Given the description of an element on the screen output the (x, y) to click on. 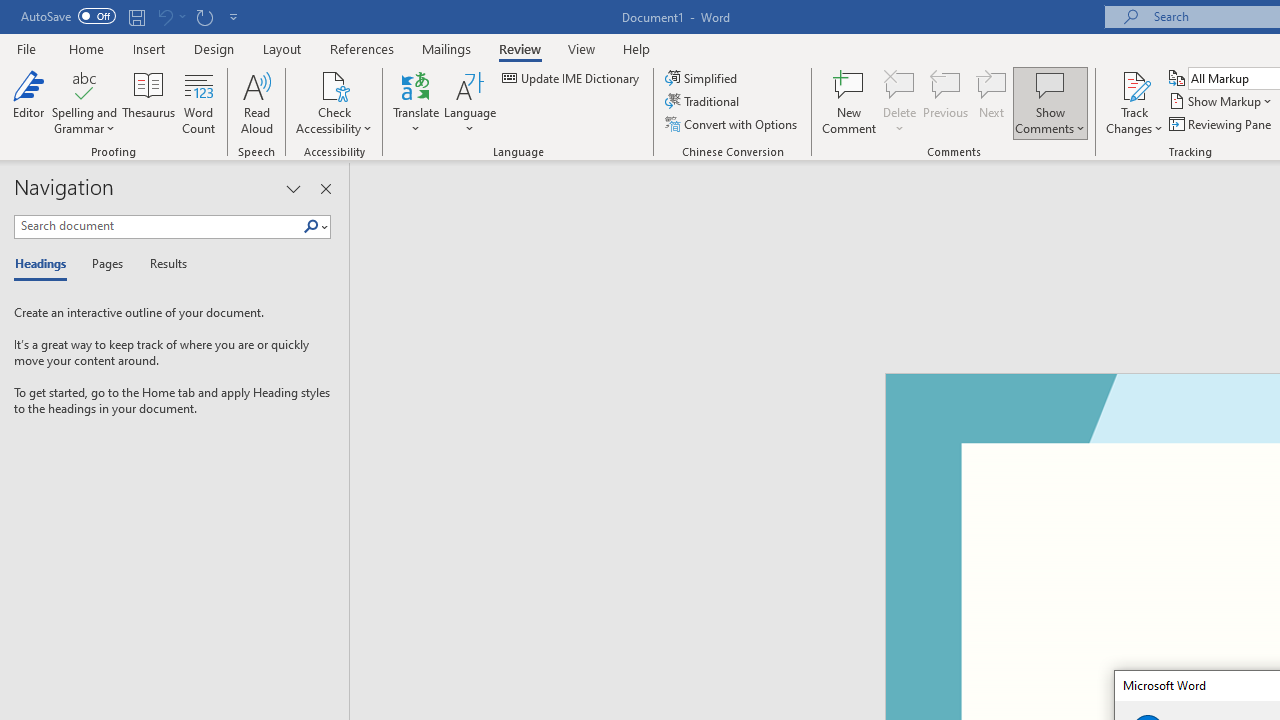
Track Changes (1134, 102)
Review (520, 48)
View (582, 48)
Close pane (325, 188)
Previous (946, 102)
Spelling and Grammar (84, 102)
Update IME Dictionary... (572, 78)
Can't Undo (164, 15)
Customize Quick Access Toolbar (234, 15)
Show Comments (1050, 84)
Convert with Options... (732, 124)
Language (470, 102)
